Given the description of an element on the screen output the (x, y) to click on. 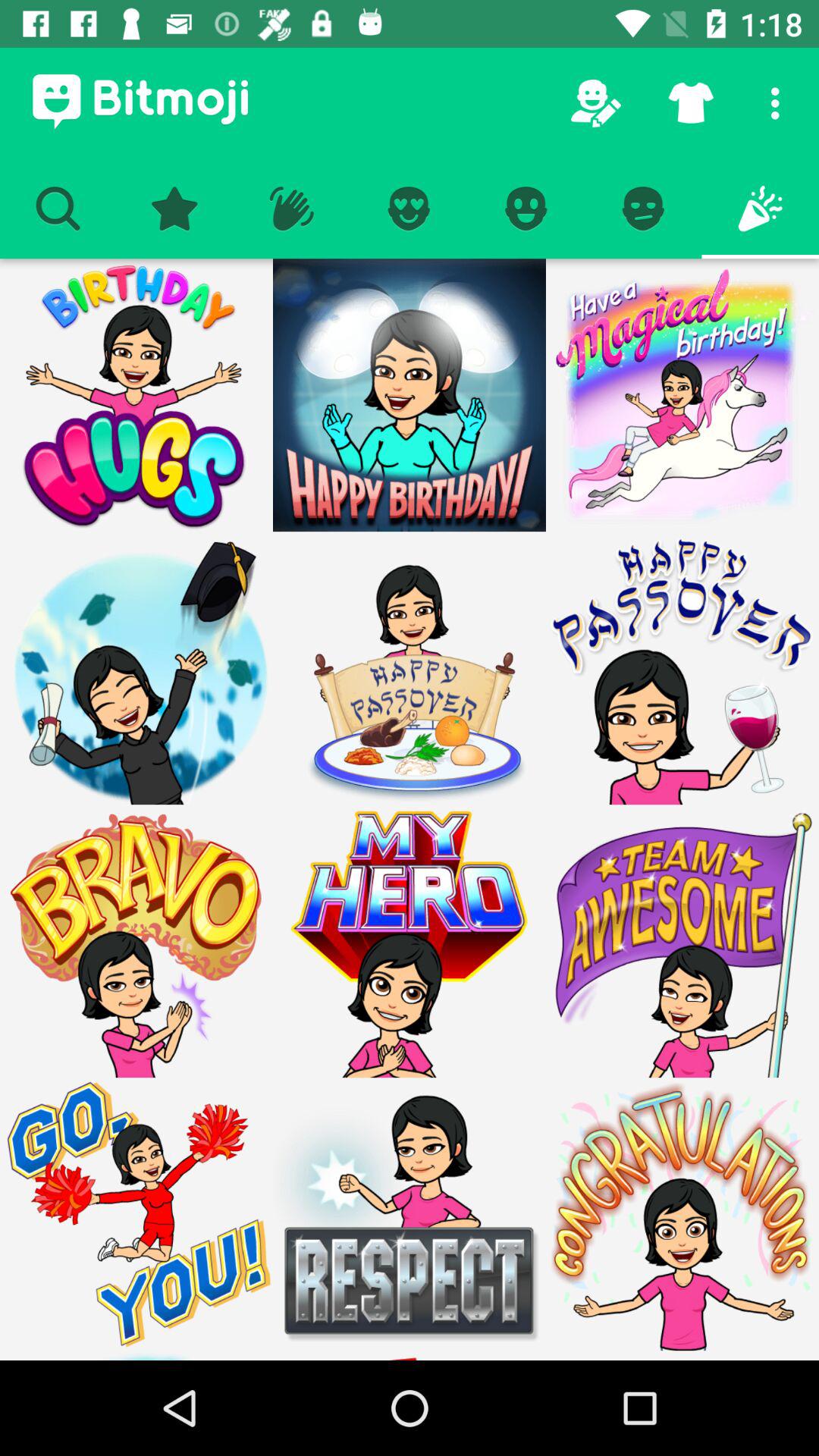
select image (409, 667)
